Given the description of an element on the screen output the (x, y) to click on. 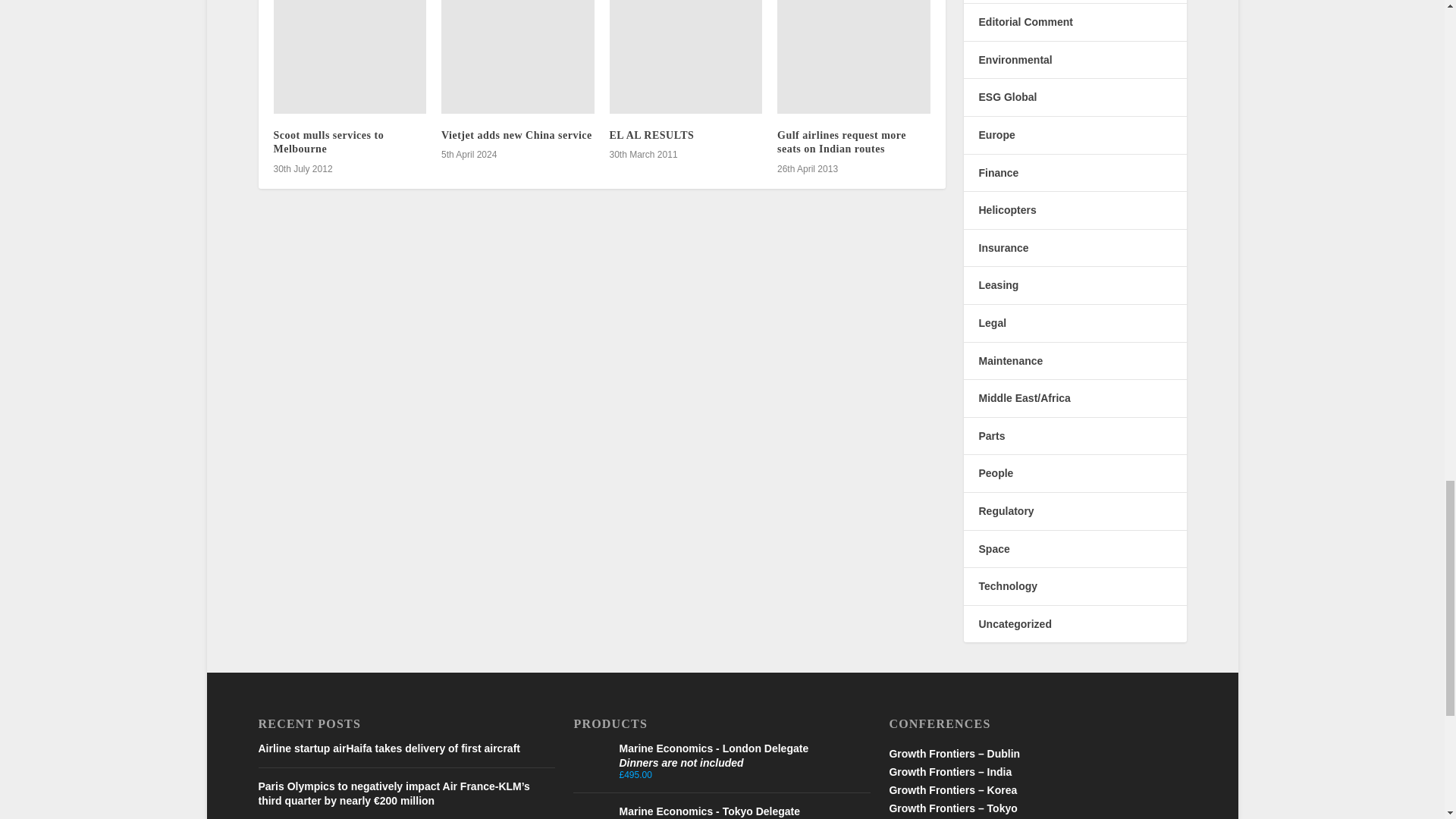
Scoot mulls services to Melbourne (349, 57)
